Given the description of an element on the screen output the (x, y) to click on. 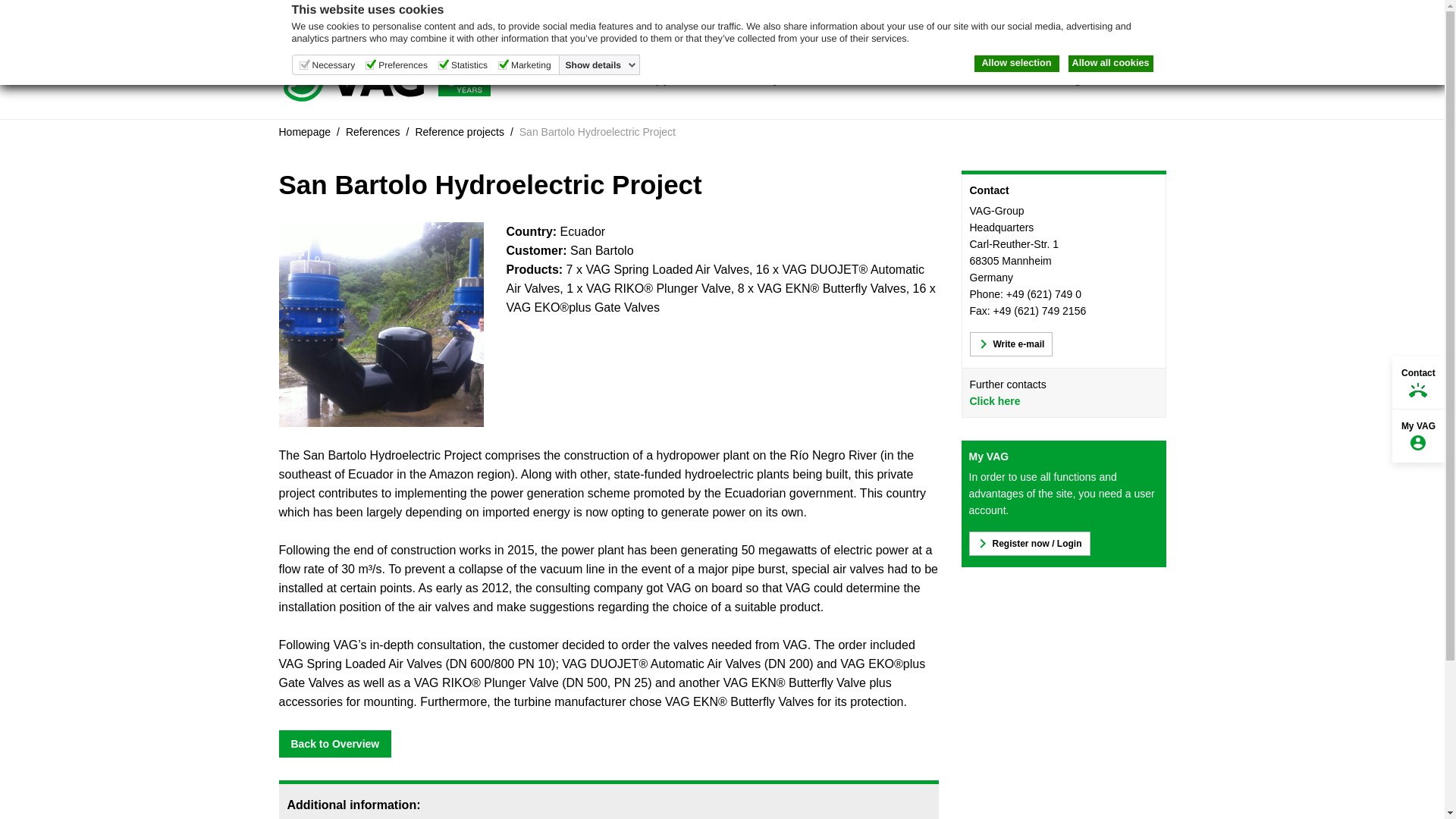
Allow selection (1016, 63)
Allow all cookies (1110, 63)
Show details (600, 64)
